Given the description of an element on the screen output the (x, y) to click on. 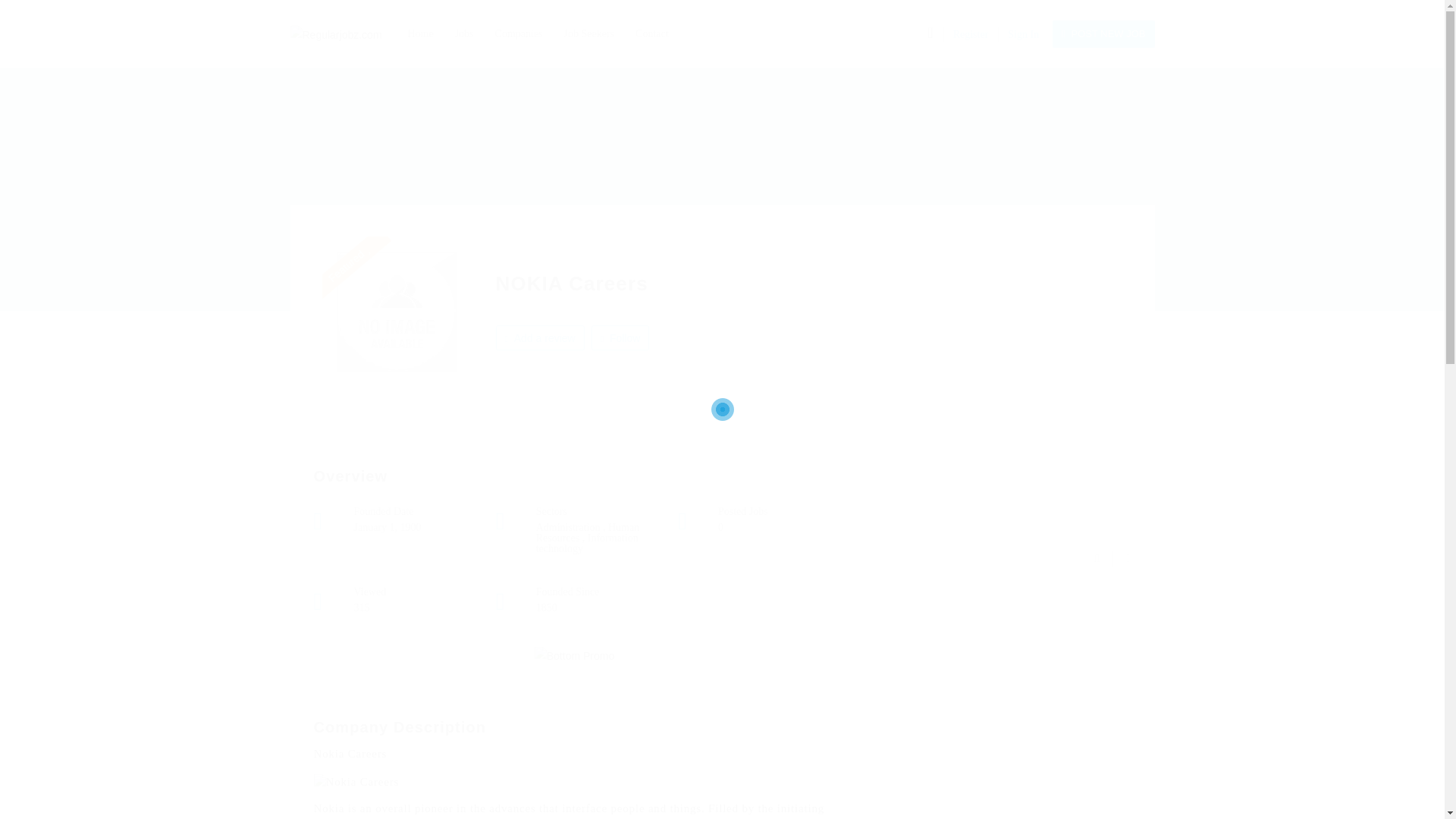
Register (970, 34)
Regularjobz.com (342, 33)
Sign In (1023, 34)
POST NEW JOB (1103, 32)
Follow (620, 336)
Add a review (540, 336)
